Given the description of an element on the screen output the (x, y) to click on. 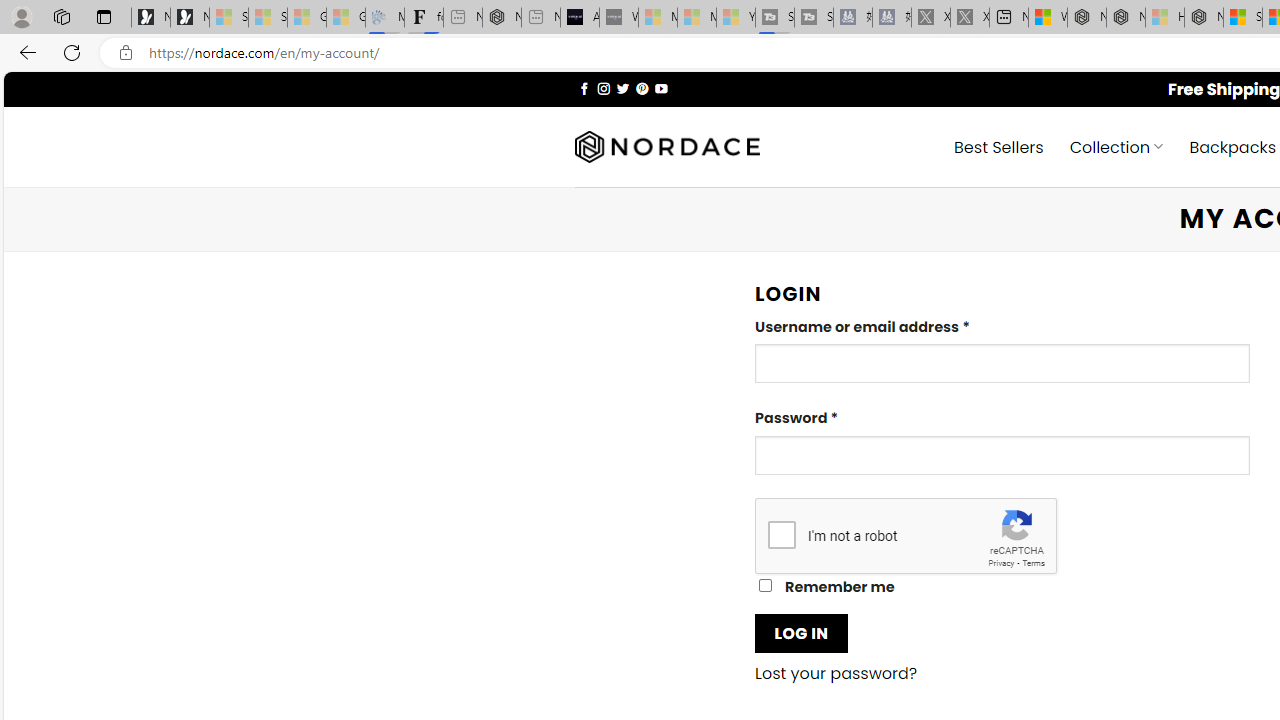
Terms (1033, 562)
Follow on Facebook (584, 88)
Follow on Pinterest (642, 88)
Follow on Twitter (621, 88)
Remember me (765, 585)
Lost your password? (836, 673)
Follow on YouTube (661, 88)
